Given the description of an element on the screen output the (x, y) to click on. 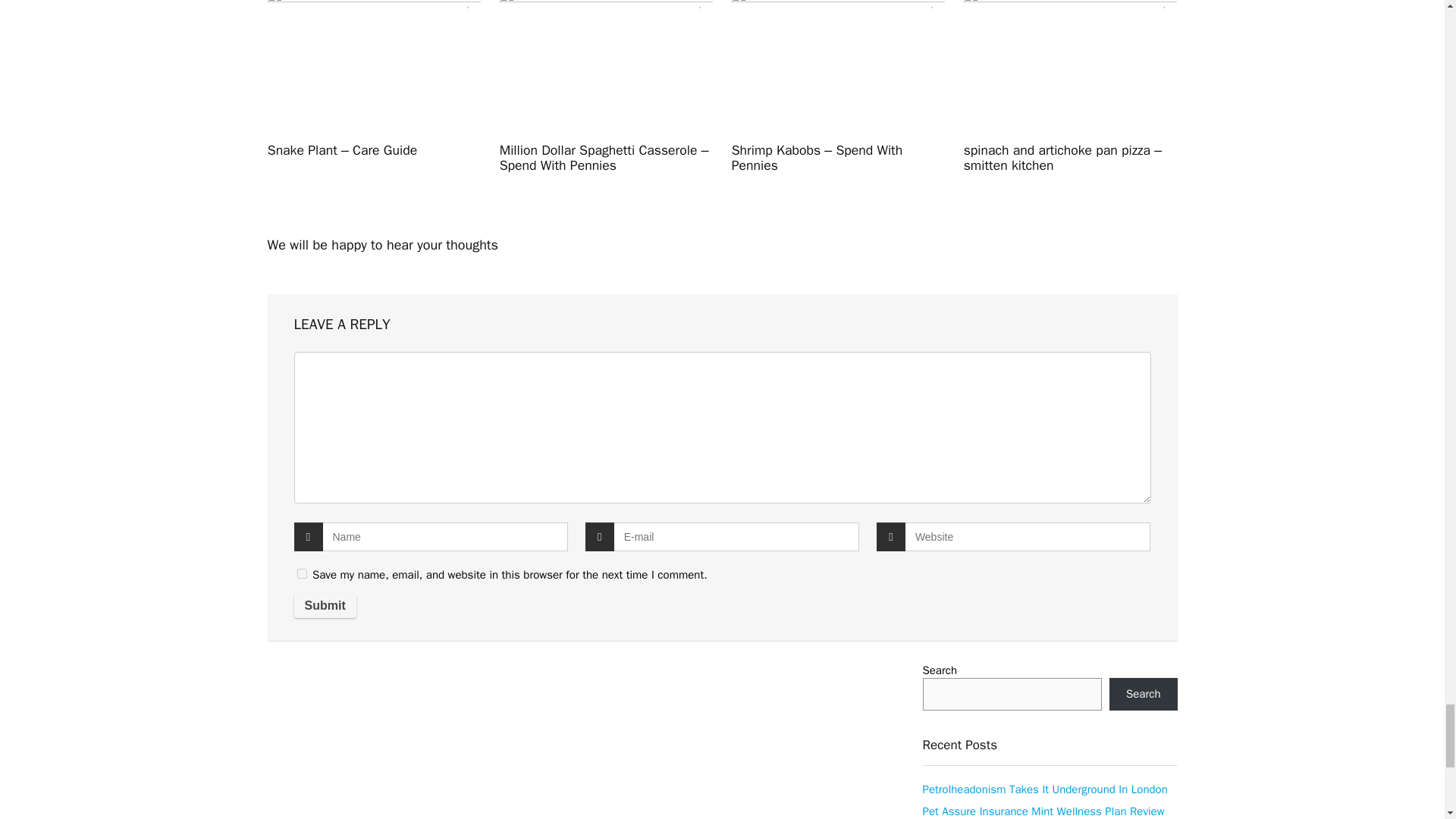
yes (302, 573)
Submit (325, 605)
Submit (325, 605)
Search (1143, 694)
Petrolheadonism Takes It Underground In London (1044, 789)
